Given the description of an element on the screen output the (x, y) to click on. 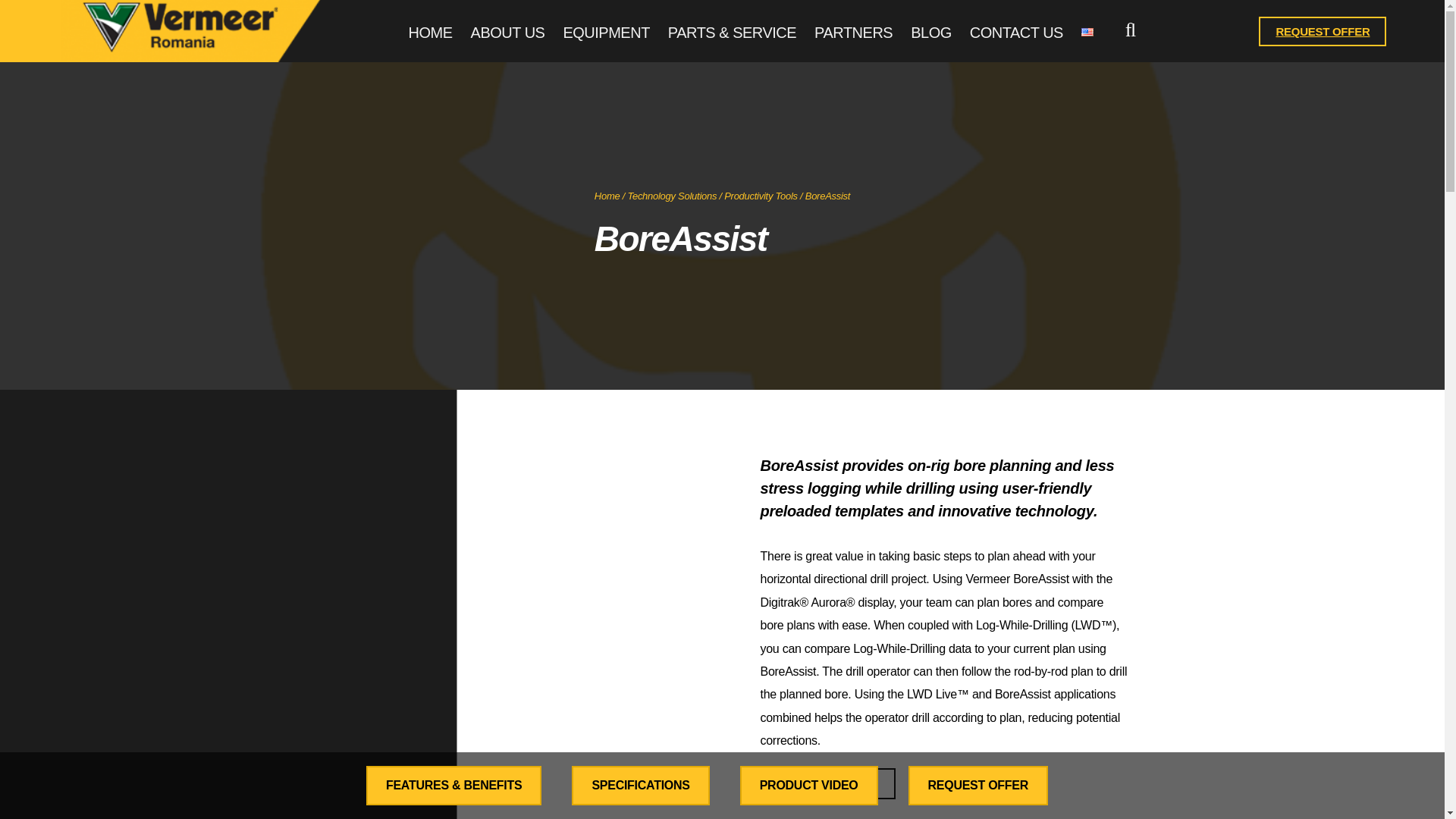
ABOUT US (507, 32)
EQUIPMENT (605, 32)
HOME (430, 32)
